Given the description of an element on the screen output the (x, y) to click on. 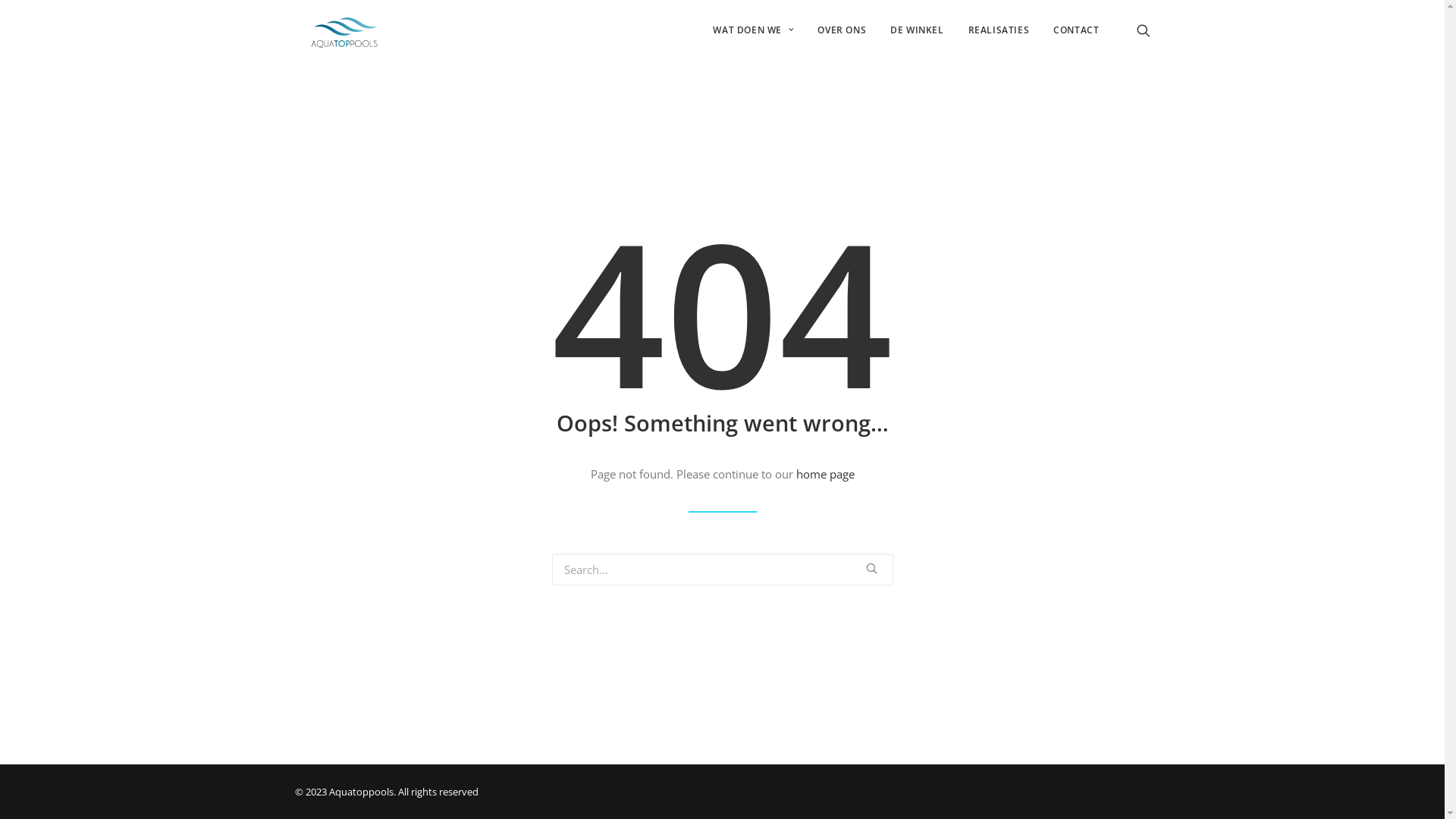
REALISATIES Element type: text (998, 30)
DE WINKEL Element type: text (916, 30)
OVER ONS Element type: text (841, 30)
WAT DOEN WE Element type: text (752, 30)
home page Element type: text (825, 473)
CONTACT Element type: text (1070, 30)
Search for: Element type: hover (722, 569)
